Given the description of an element on the screen output the (x, y) to click on. 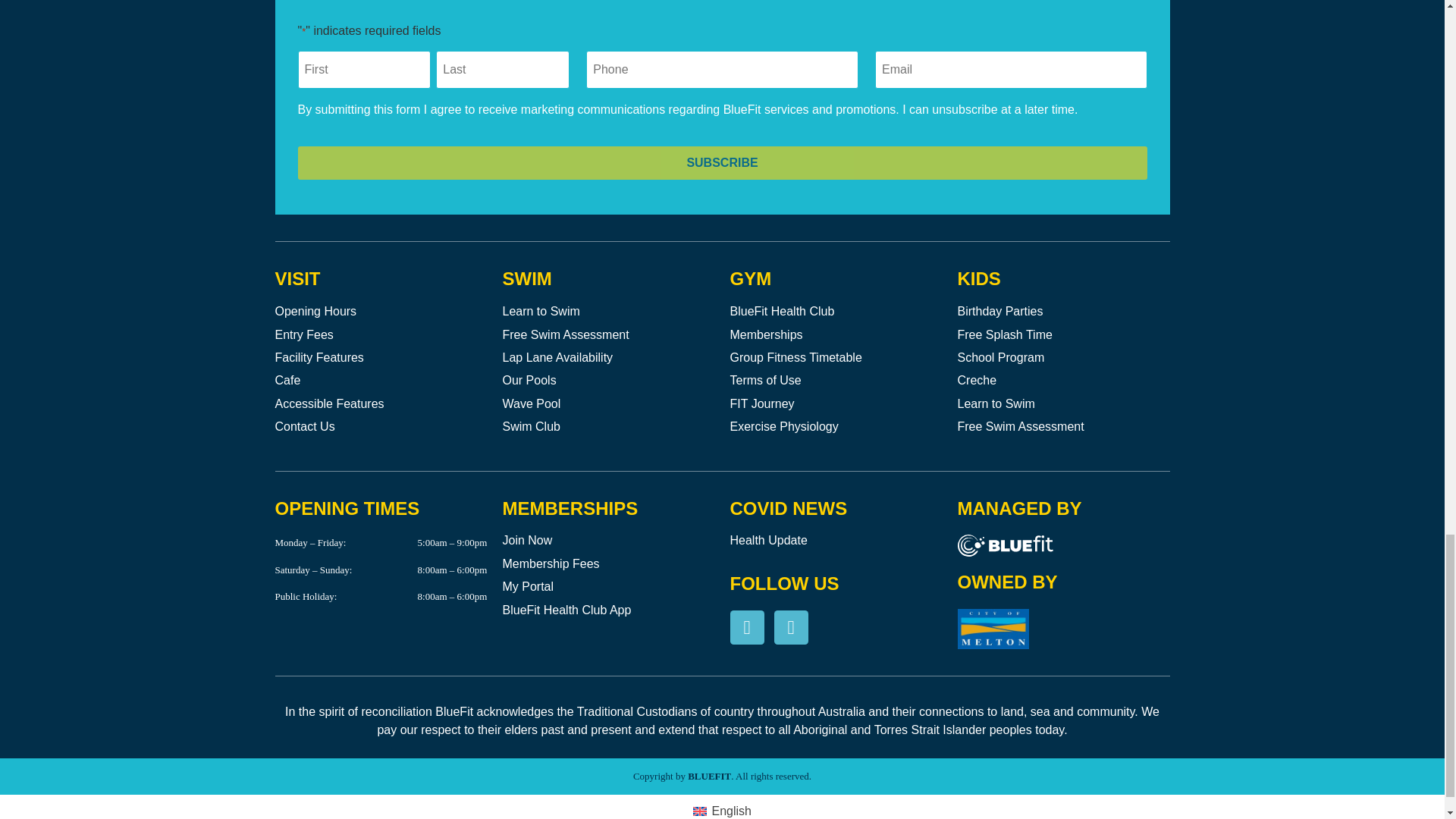
Subscribe (722, 162)
MCC-logo (991, 628)
